Given the description of an element on the screen output the (x, y) to click on. 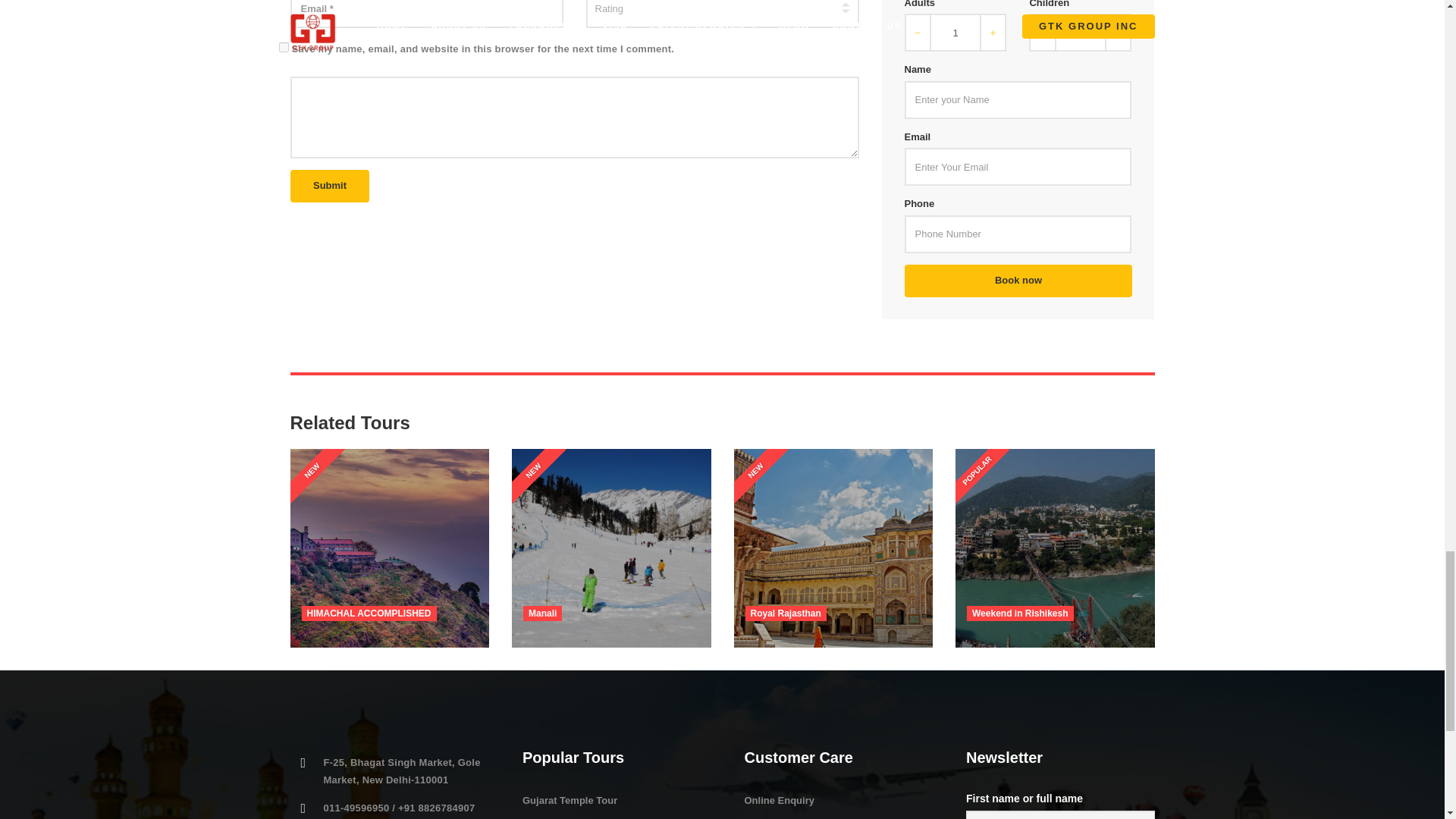
Online Enquiry (778, 799)
Amazing Gujarat (560, 817)
yes (283, 47)
1 (1079, 32)
Gujarat Temple Tour (569, 799)
Book now (1017, 280)
1 (954, 32)
Submit (328, 185)
